Given the description of an element on the screen output the (x, y) to click on. 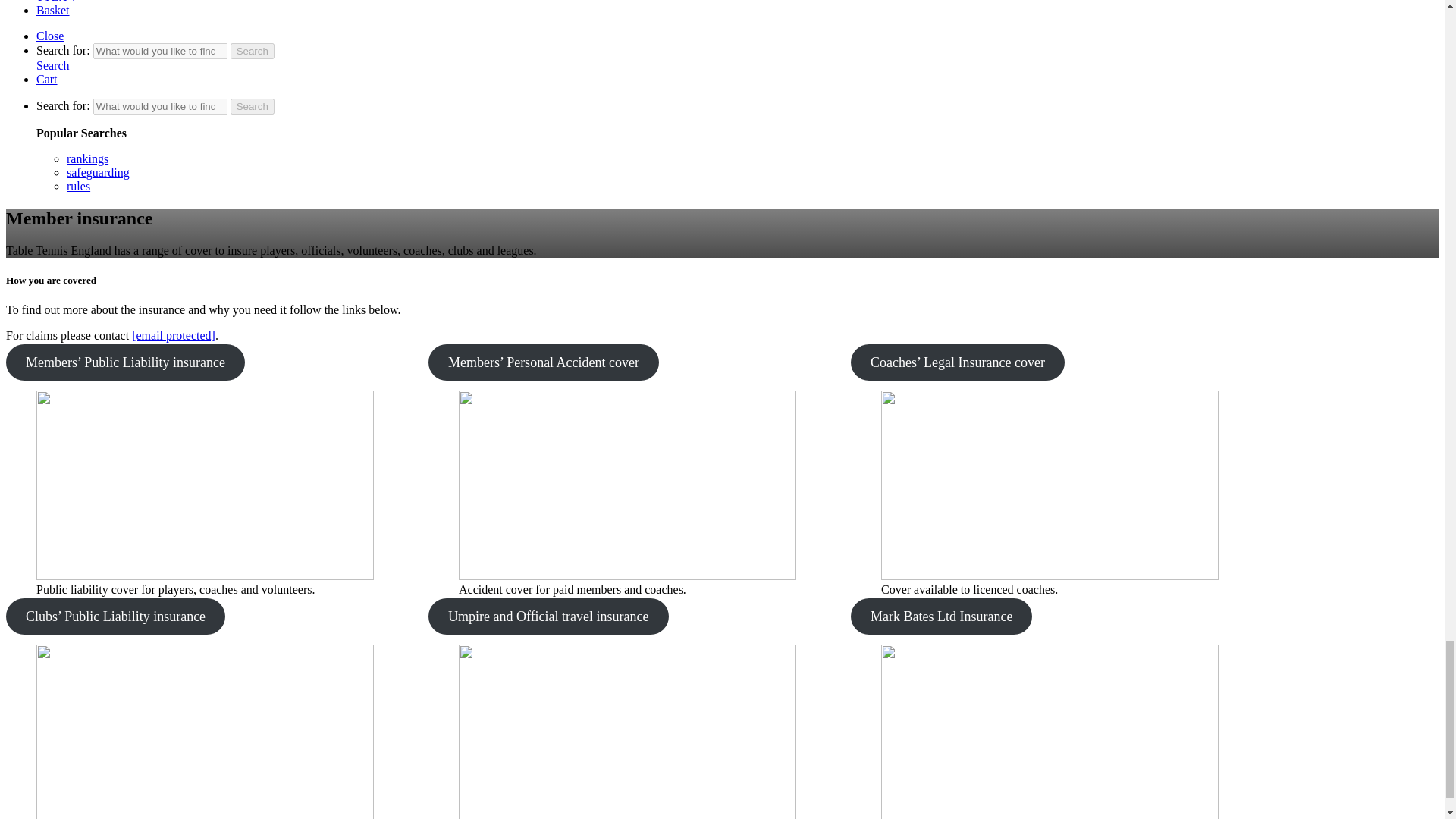
Search (252, 50)
Search (252, 106)
Search (252, 106)
Search (252, 50)
